Given the description of an element on the screen output the (x, y) to click on. 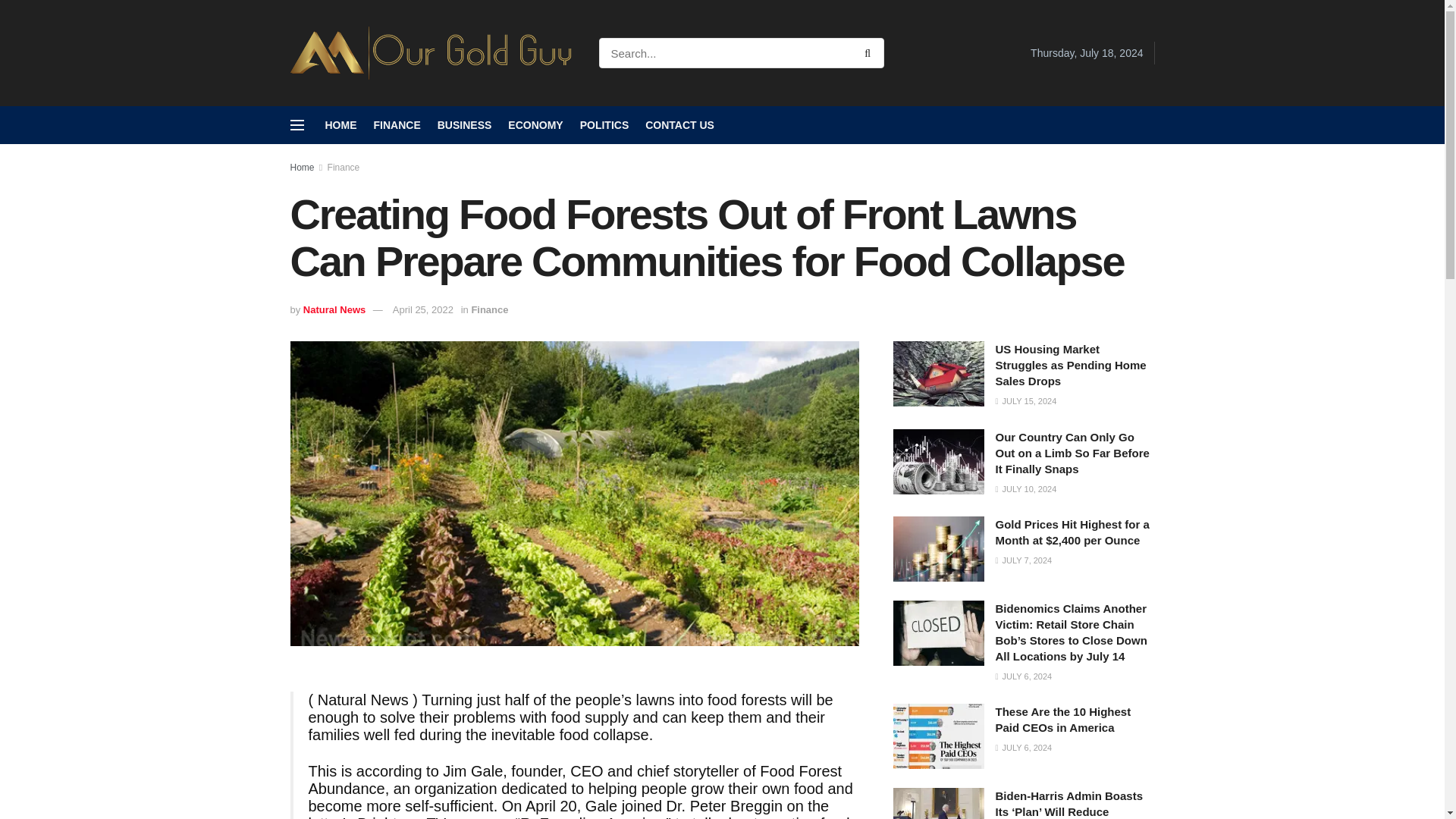
ECONOMY (535, 125)
POLITICS (603, 125)
FINANCE (396, 125)
Finance (343, 167)
US Housing Market Struggles as Pending Home Sales Drops (1069, 365)
CONTACT US (679, 125)
Home (301, 167)
BUSINESS (465, 125)
Finance (489, 309)
Natural News (333, 309)
April 25, 2022 (422, 309)
